Given the description of an element on the screen output the (x, y) to click on. 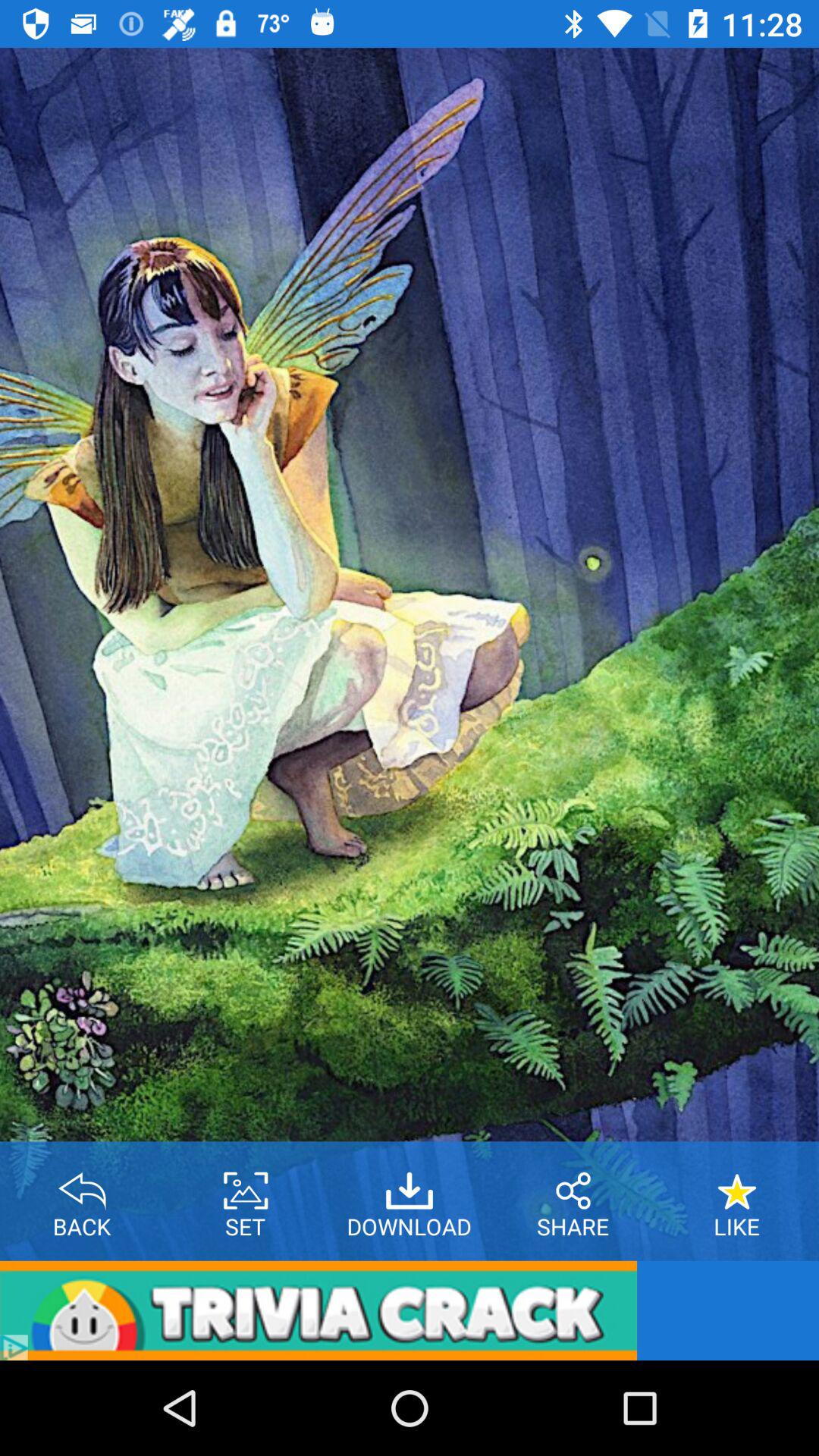
share (573, 1185)
